Given the description of an element on the screen output the (x, y) to click on. 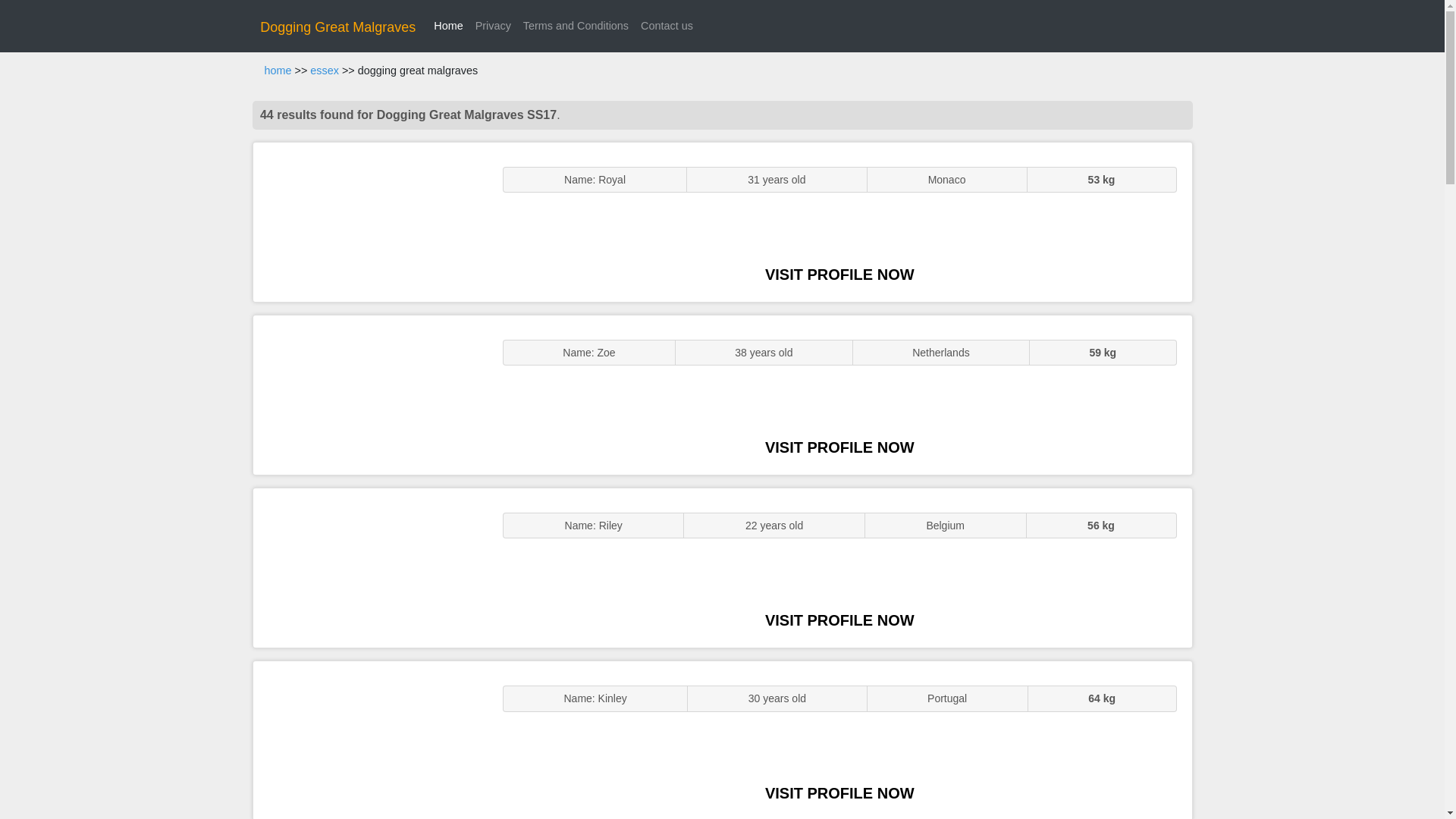
Sexy (370, 567)
 ENGLISH STUNNER (370, 222)
Terms and Conditions (575, 25)
VISIT PROFILE NOW (839, 792)
essex (324, 70)
home (277, 70)
Privacy (492, 25)
VISIT PROFILE NOW (839, 446)
VISIT PROFILE NOW (839, 274)
Dogging Great Malgraves (337, 27)
VISIT PROFILE NOW (839, 619)
GFE (370, 395)
Contact us (666, 25)
Sluts (370, 739)
